Given the description of an element on the screen output the (x, y) to click on. 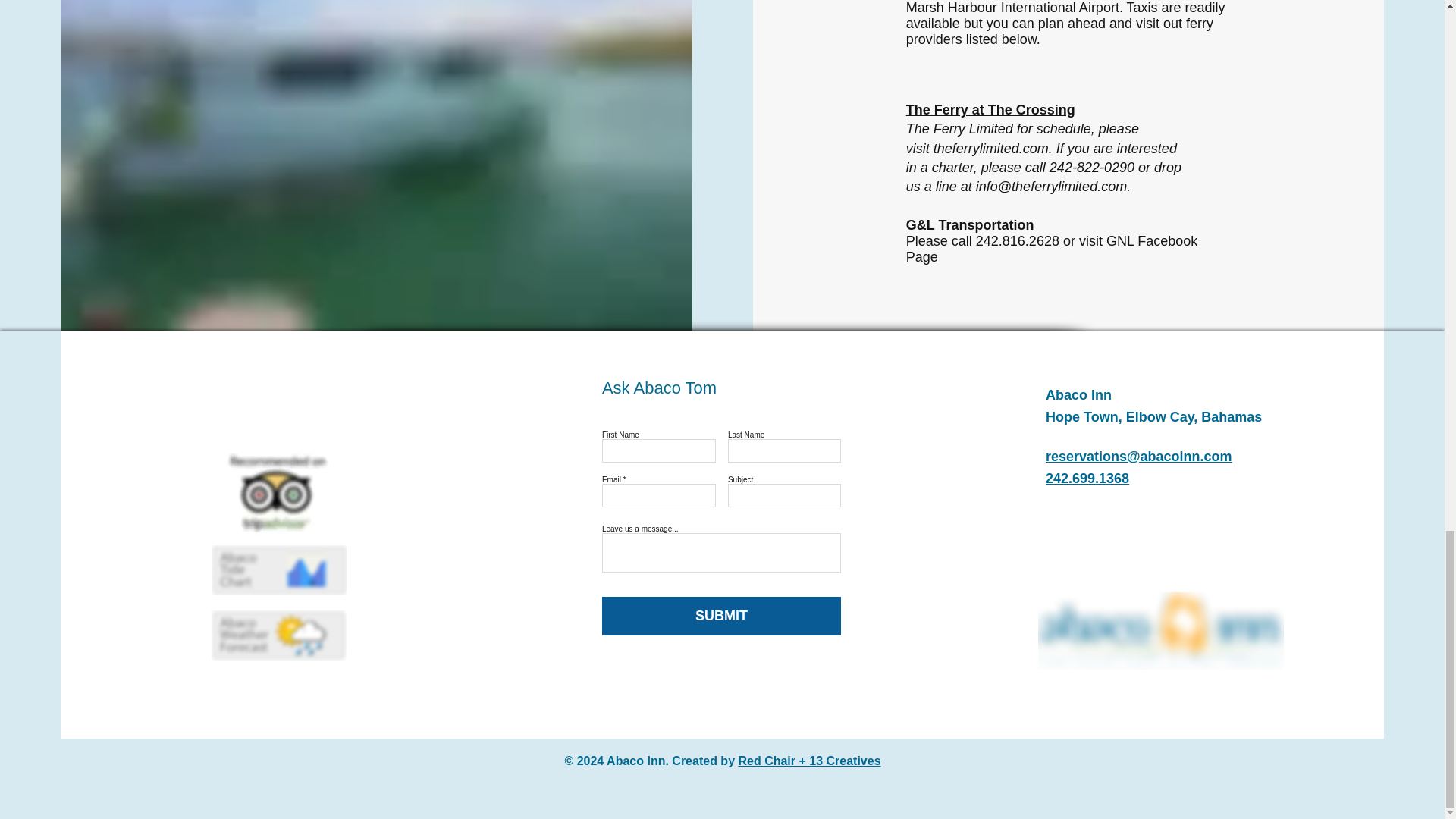
images-2-1.jpg (277, 494)
Screen-Shot-2012-04-05-at-10.33.23-AM2-1 (278, 635)
theferrylimited.com.  (995, 148)
Screen-Shot-2012-04-05-at-1.31.20-PM-1.p (279, 570)
242.699.1368 (1087, 478)
GNL Facebook Page (1051, 248)
The Ferry at The Crossing (990, 109)
SUBMIT (721, 616)
